Given the description of an element on the screen output the (x, y) to click on. 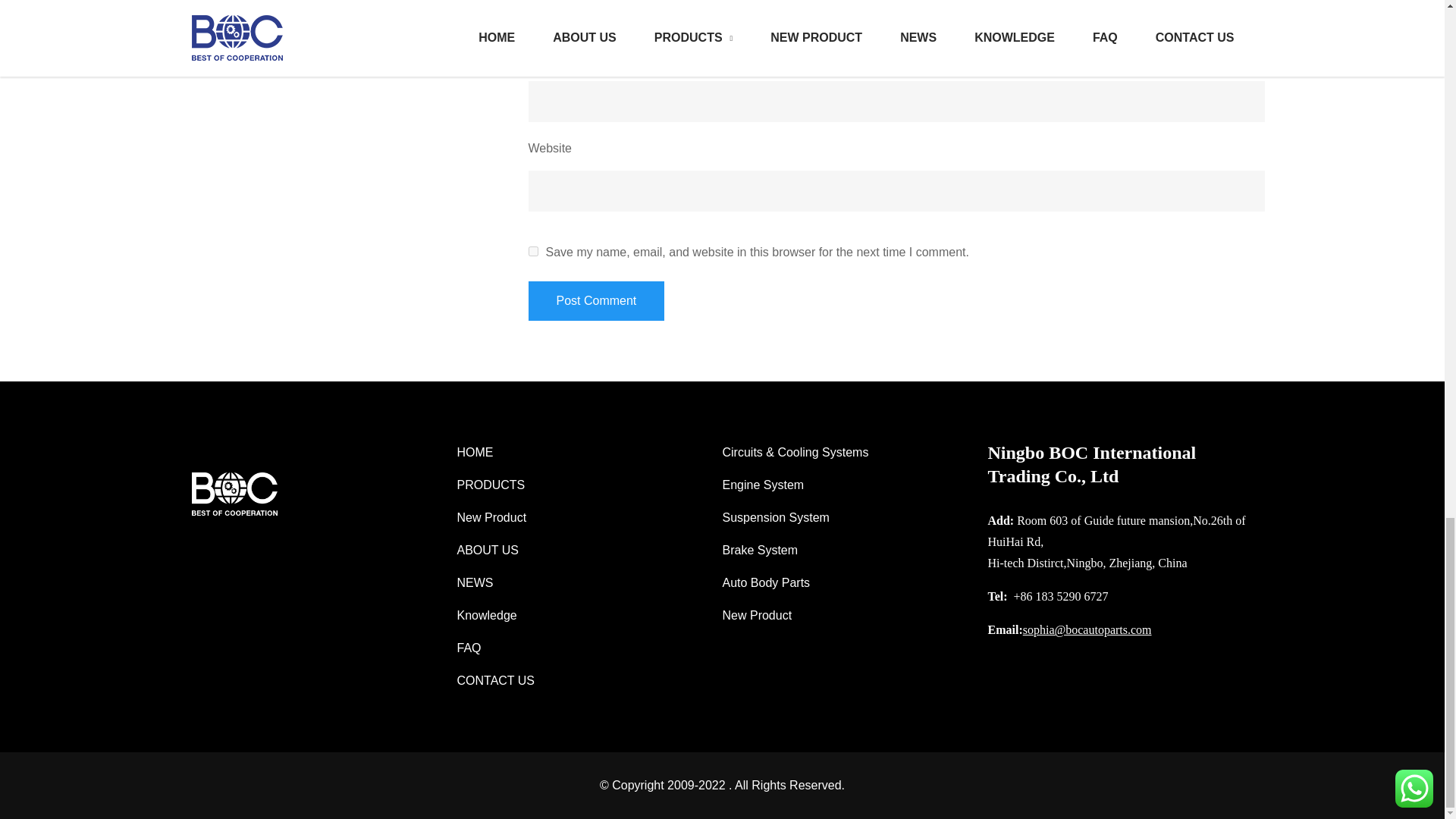
Post Comment (595, 301)
yes (532, 251)
